Given the description of an element on the screen output the (x, y) to click on. 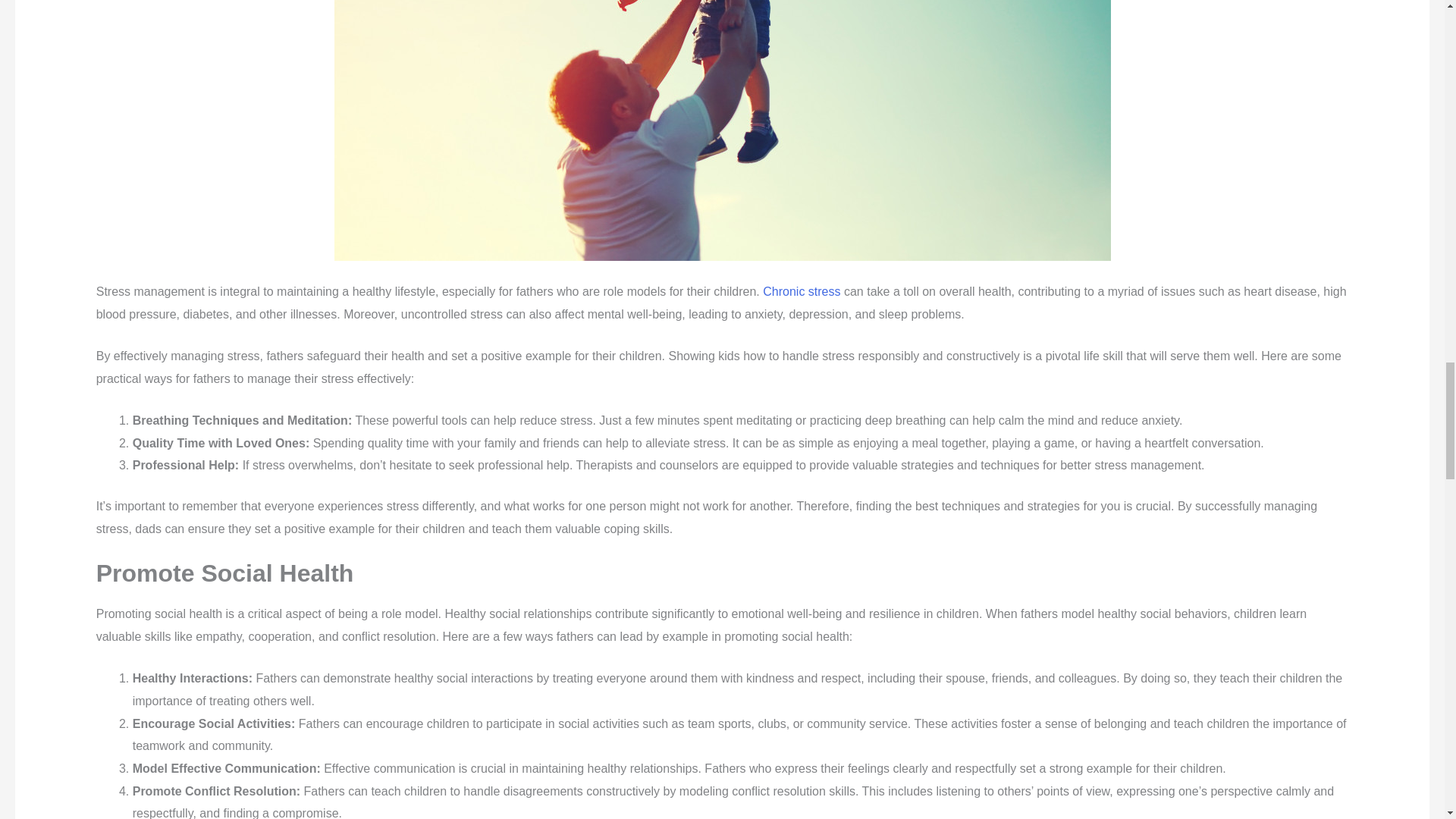
Chronic stress (801, 291)
